Given the description of an element on the screen output the (x, y) to click on. 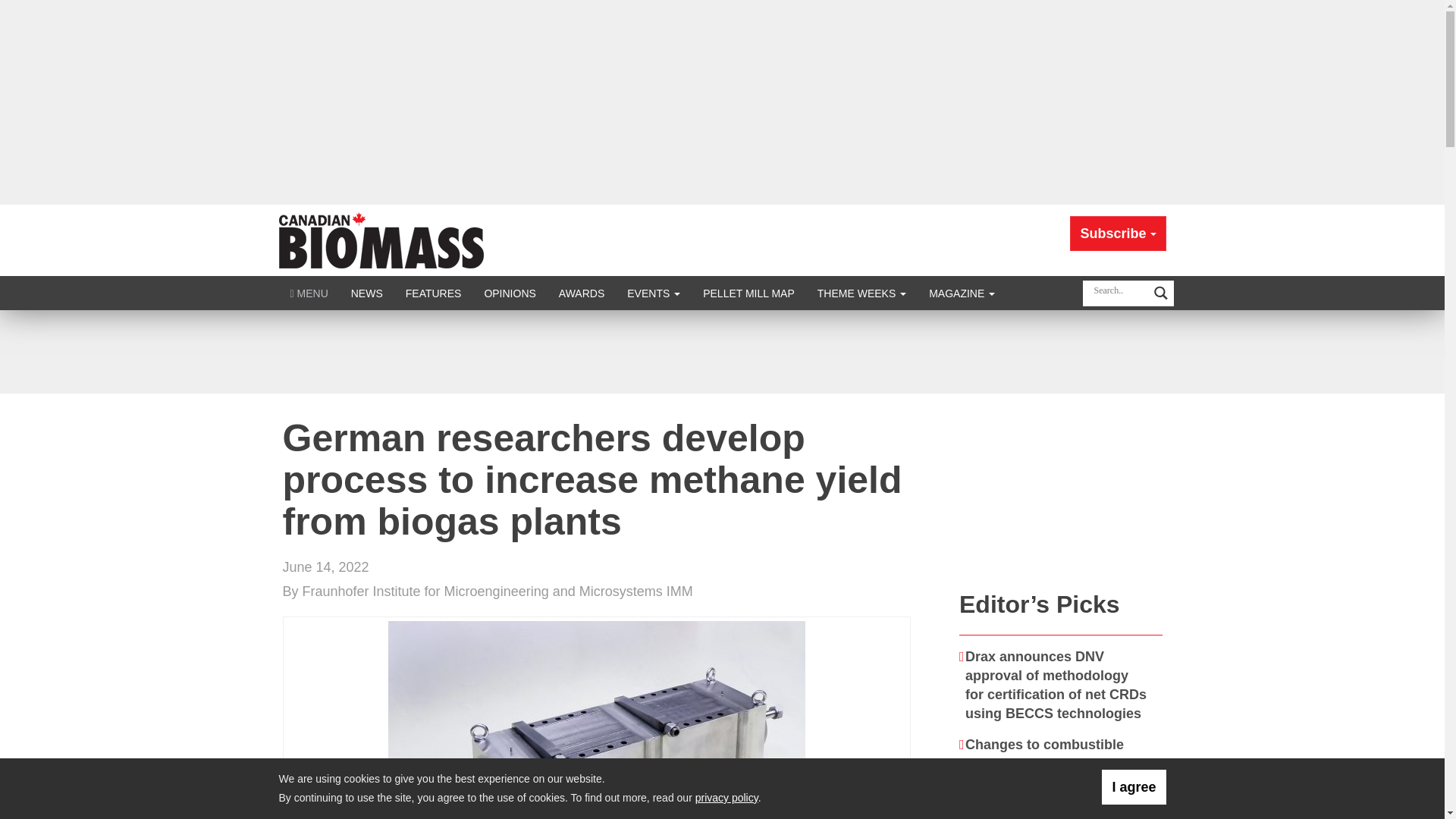
PELLET MILL MAP (748, 293)
Subscribe (1118, 233)
NEWS (366, 293)
FEATURES (433, 293)
3rd party ad content (721, 351)
Click to show site navigation (309, 293)
MENU (309, 293)
Canadian Biomass Magazine (381, 239)
OPINIONS (509, 293)
